Given the description of an element on the screen output the (x, y) to click on. 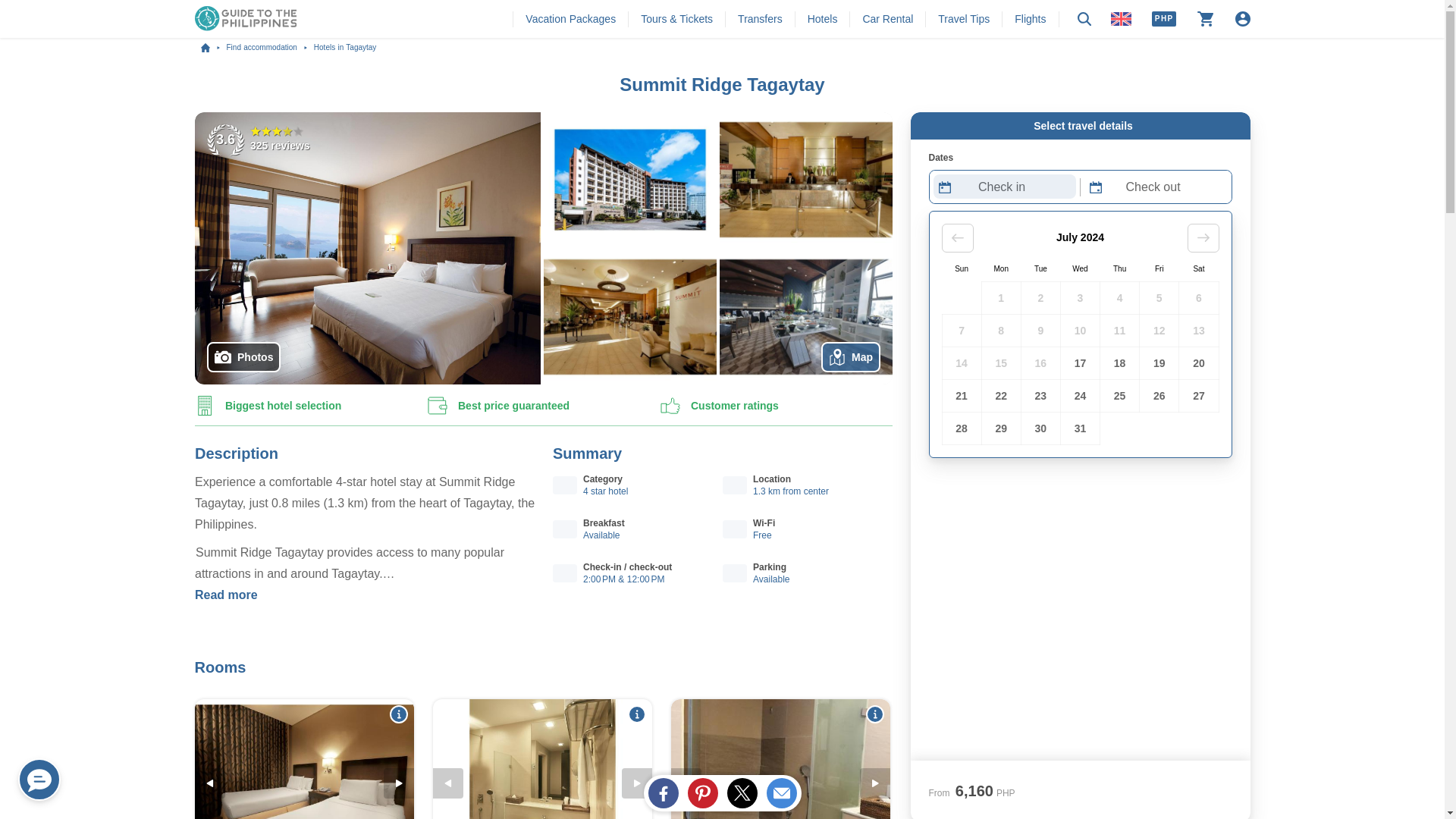
Monday (999, 268)
Guide to the Philippines (245, 18)
Find accommodation (269, 47)
Map (850, 357)
Flights (1029, 18)
Transfers (760, 18)
Contact us (39, 779)
Car Rental (886, 18)
Thursday (1119, 268)
hotels in Tagaytay (345, 47)
Photos (242, 357)
Friday (1158, 268)
Vacation Packages (570, 18)
Travel Tips (963, 18)
Guide to the Philippines (212, 47)
